Given the description of an element on the screen output the (x, y) to click on. 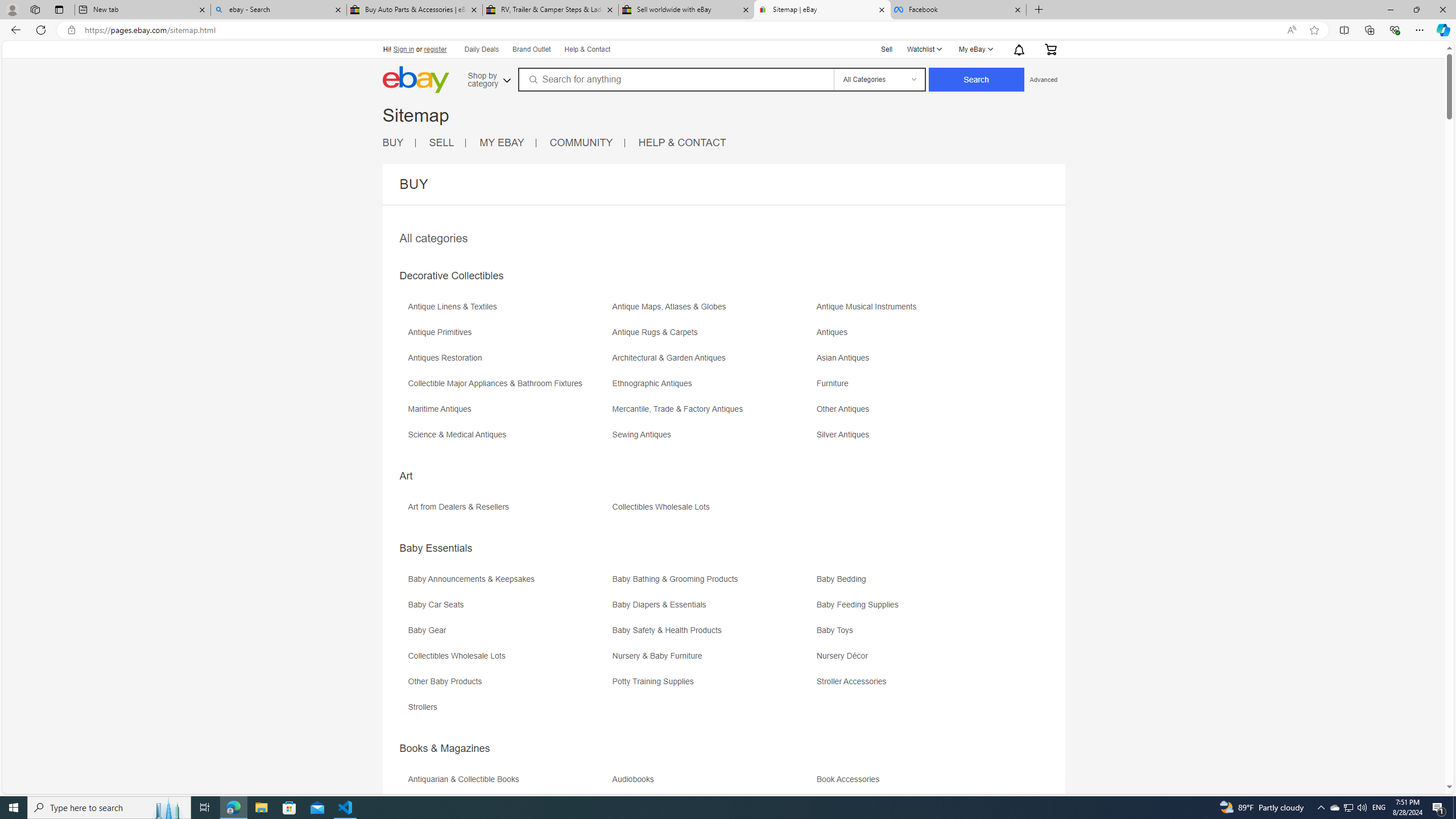
Notification (1019, 49)
Your shopping cart (1049, 49)
Antiques Restoration (508, 361)
Notification (1018, 49)
Furniture (835, 383)
Baby Feeding Supplies (860, 604)
Antique Musical Instruments (917, 310)
Maritime Antiques (442, 408)
Sell (887, 49)
Shop by category (488, 78)
My eBay (975, 49)
MY EBAY (501, 142)
